Given the description of an element on the screen output the (x, y) to click on. 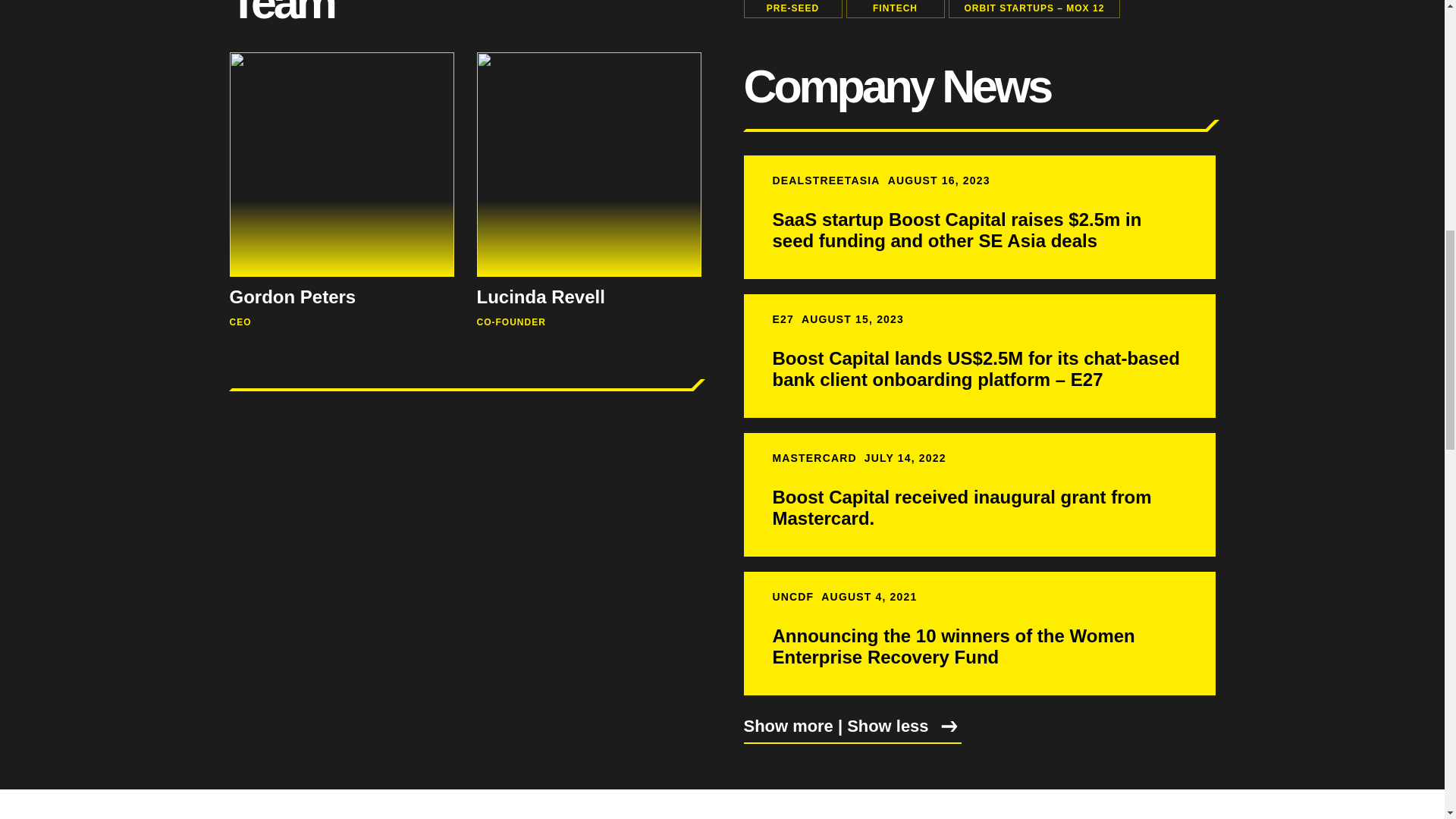
PRE-SEED (791, 9)
FINTECH (894, 9)
